Given the description of an element on the screen output the (x, y) to click on. 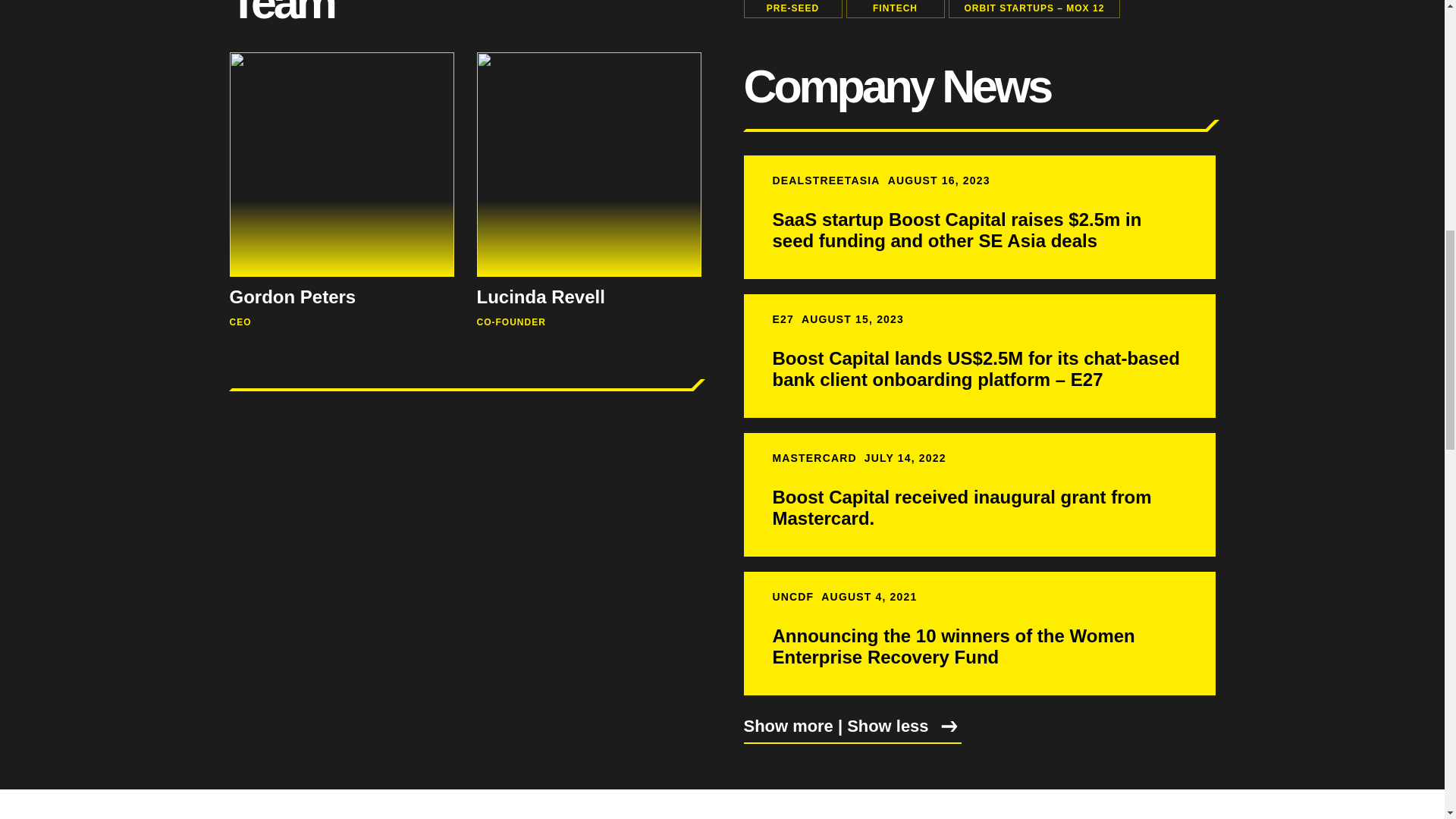
PRE-SEED (791, 9)
FINTECH (894, 9)
